Given the description of an element on the screen output the (x, y) to click on. 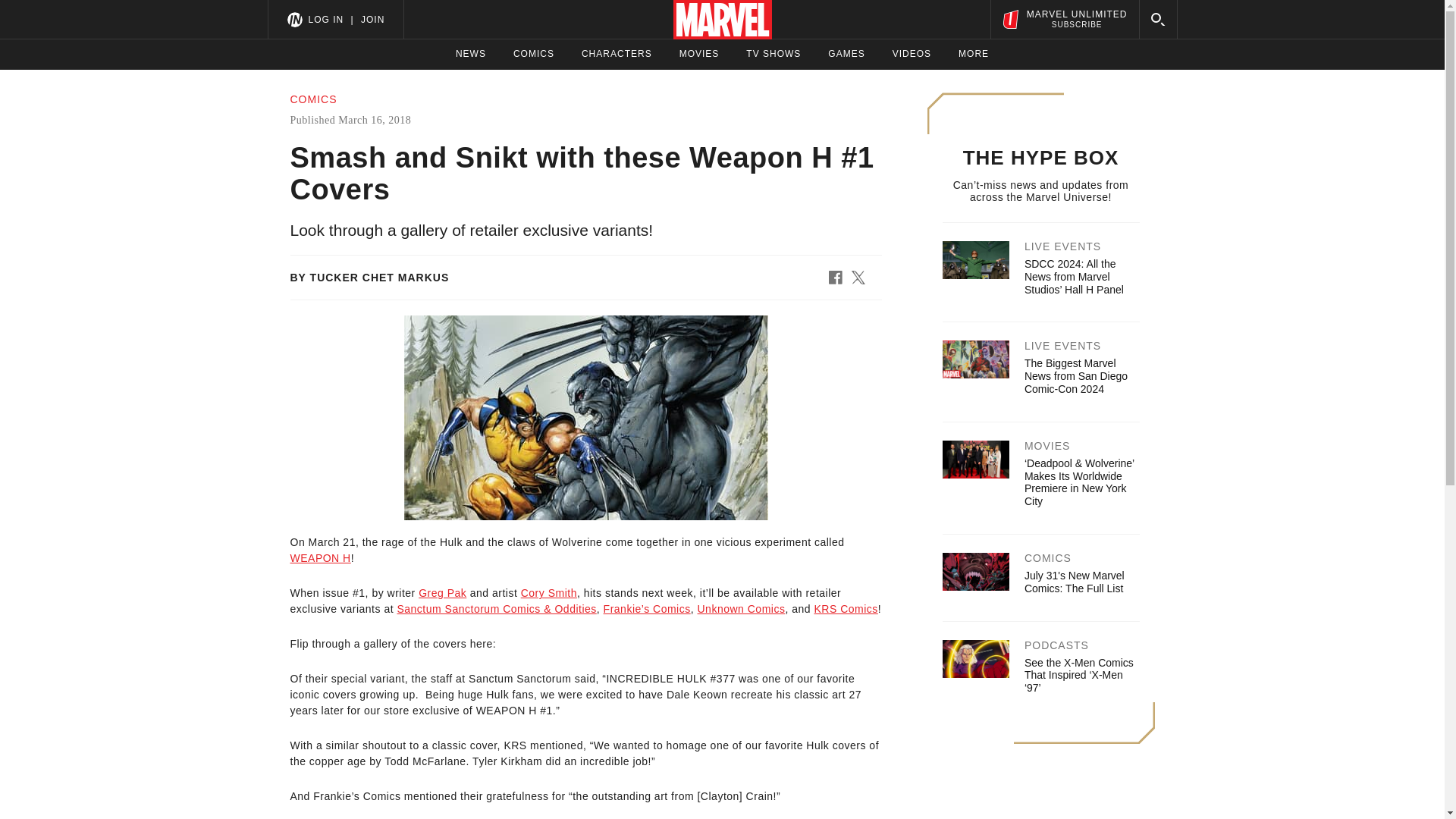
GAMES (846, 54)
COMICS (1064, 19)
CHARACTERS (533, 54)
WEAPON H (616, 54)
JOIN (319, 558)
July 31's New Marvel Comics: The Full List (372, 18)
The Biggest Marvel News from San Diego Comic-Con 2024 (1074, 581)
NEWS (1075, 375)
MOVIES (470, 54)
Cory Smith (699, 54)
TV SHOWS (548, 592)
LOG IN (772, 54)
Unknown Comics (325, 18)
KRS Comics (741, 608)
